Given the description of an element on the screen output the (x, y) to click on. 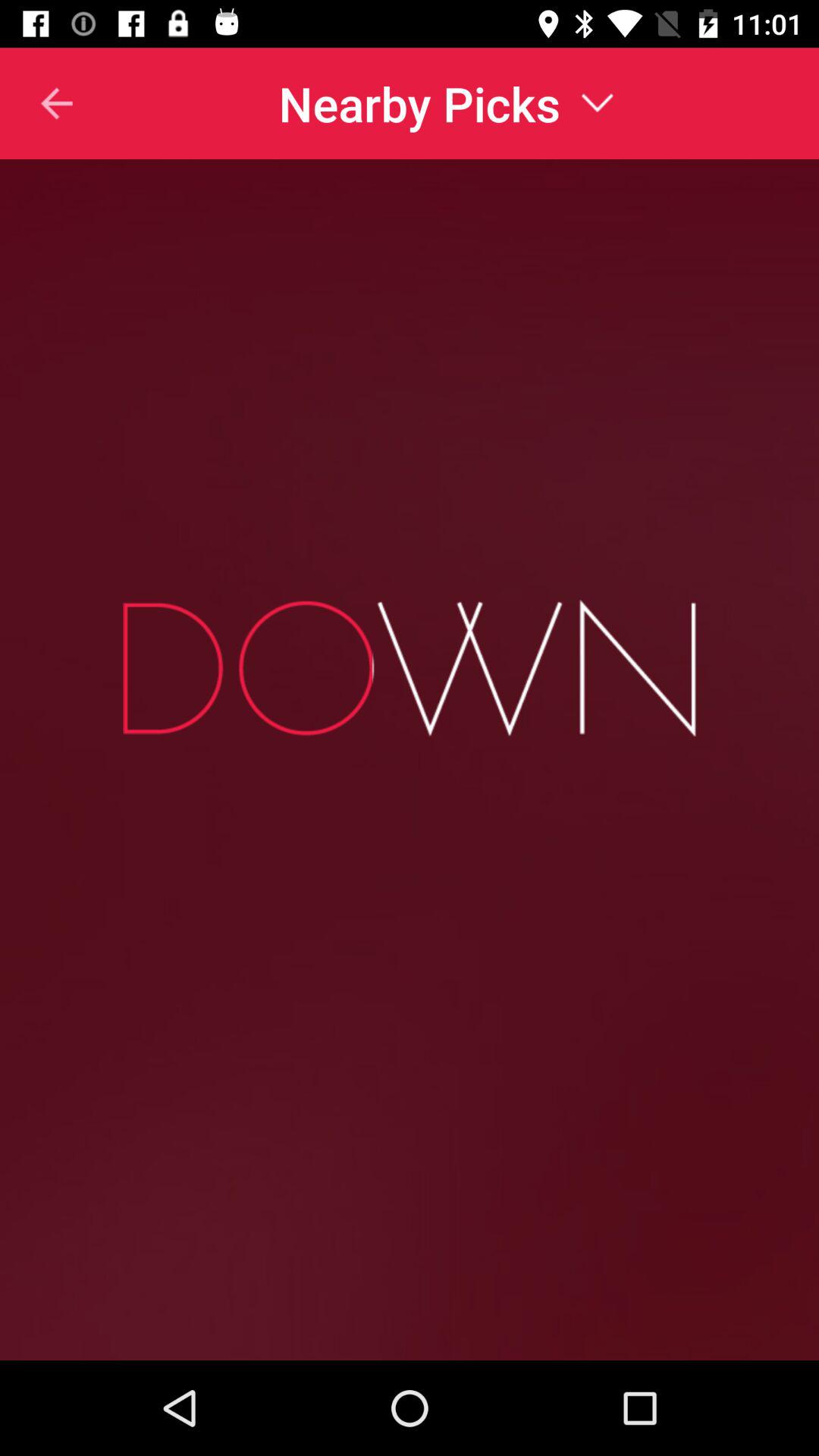
turn on item at the top left corner (37, 103)
